Given the description of an element on the screen output the (x, y) to click on. 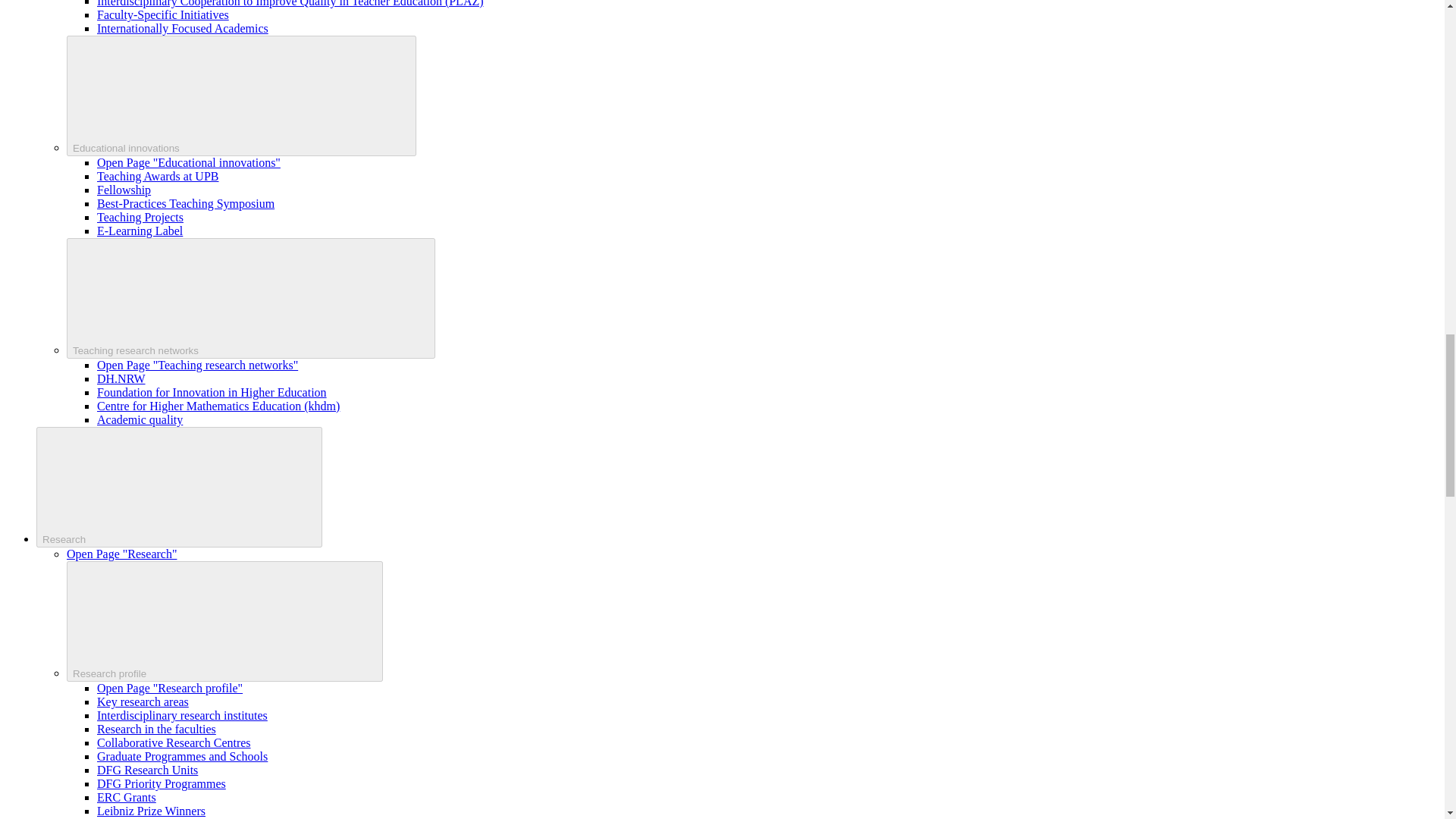
toggle submenu (250, 298)
toggle submenu (178, 486)
toggle submenu (241, 96)
toggle submenu (224, 621)
